Given the description of an element on the screen output the (x, y) to click on. 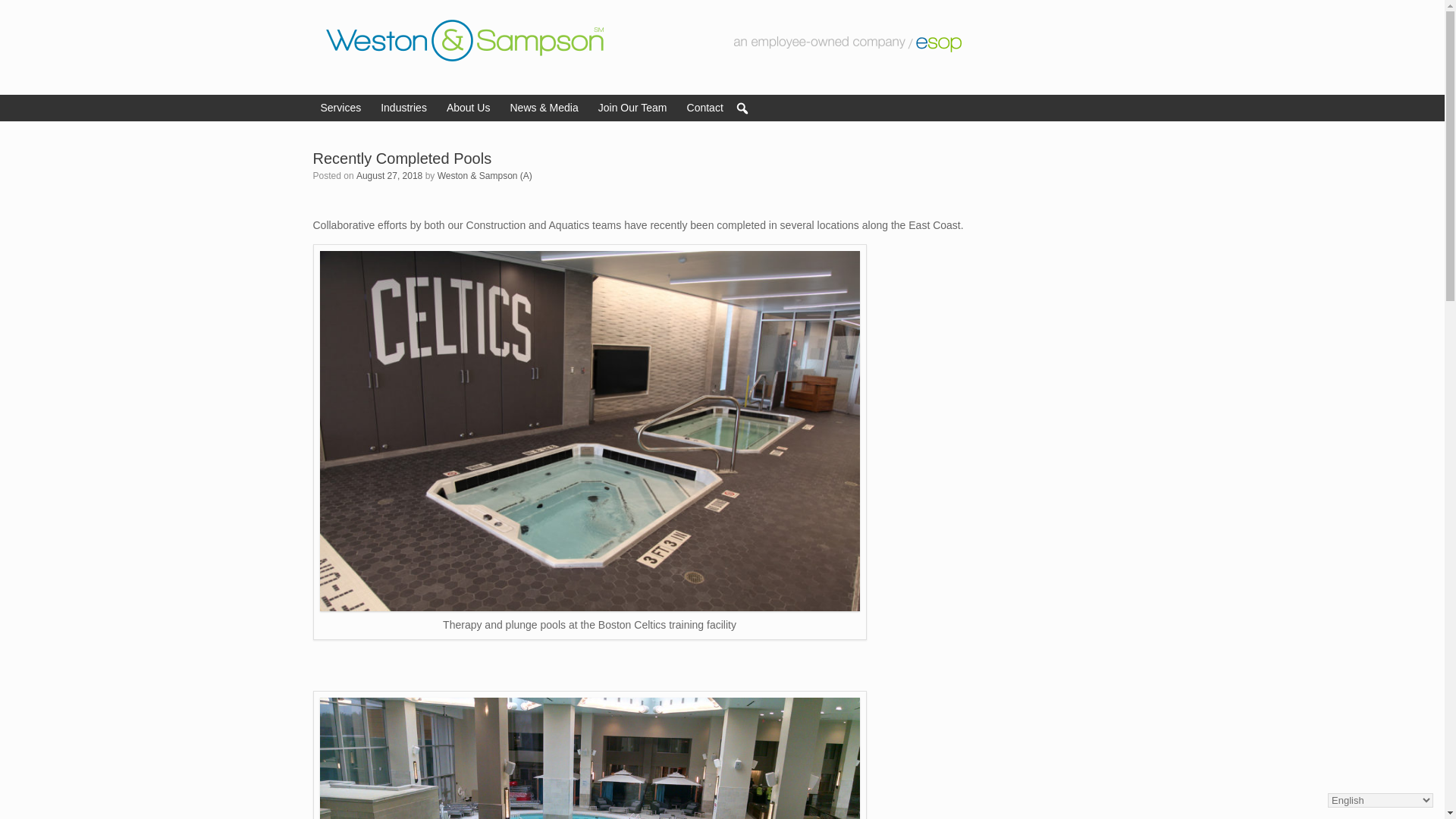
3:06 pm (389, 175)
Services (342, 108)
